Given the description of an element on the screen output the (x, y) to click on. 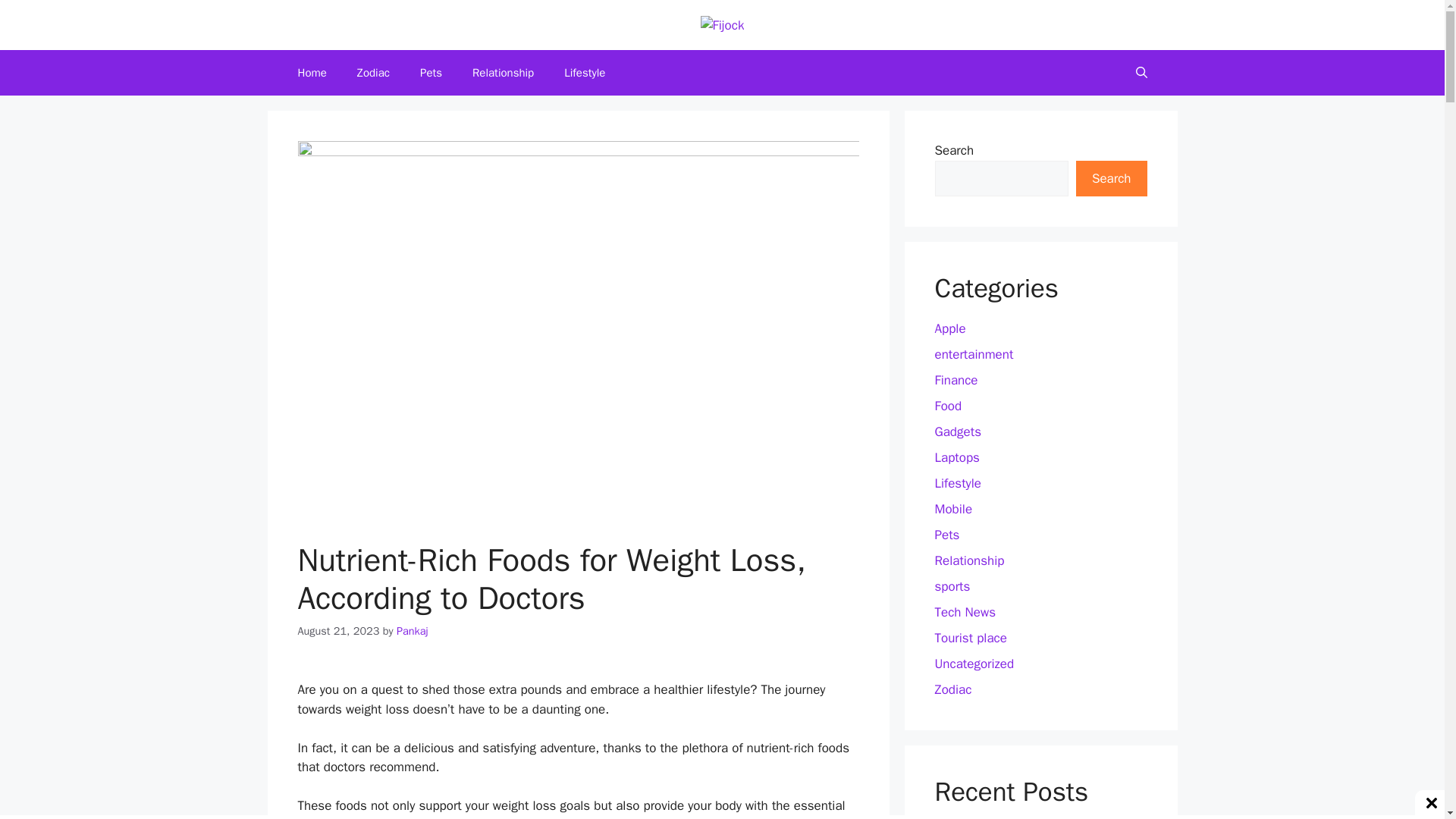
Zodiac (952, 689)
View all posts by Pankaj (412, 631)
Tech News (964, 611)
Relationship (502, 72)
Zodiac (373, 72)
Finance (955, 380)
Apple (949, 328)
entertainment (973, 354)
Lifestyle (956, 483)
Pankaj (412, 631)
